Given the description of an element on the screen output the (x, y) to click on. 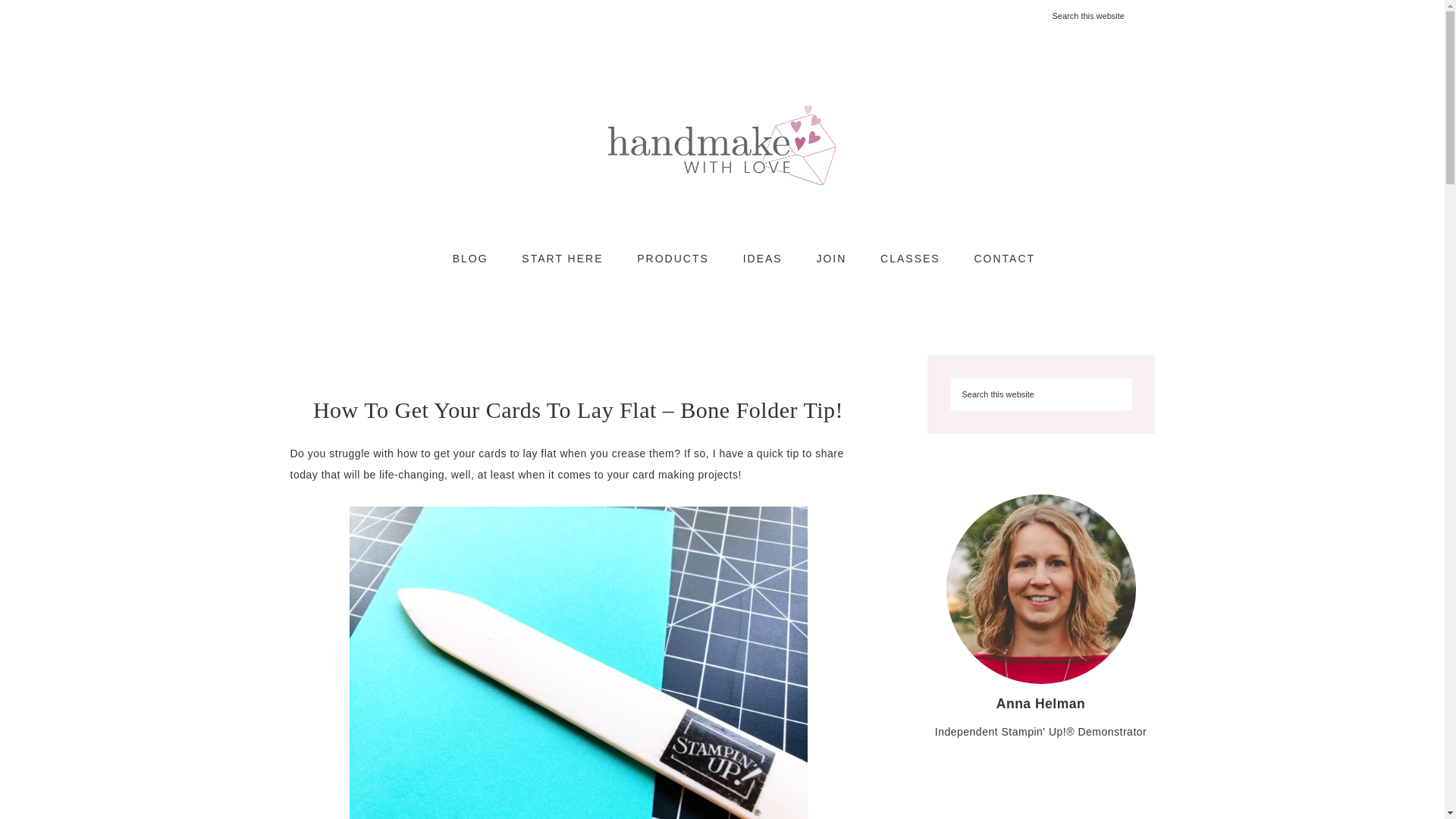
IDEAS (762, 258)
BLOG (470, 258)
HANDMAKE WITH LOVE (722, 144)
PRODUCTS (672, 258)
START HERE (561, 258)
